Given the description of an element on the screen output the (x, y) to click on. 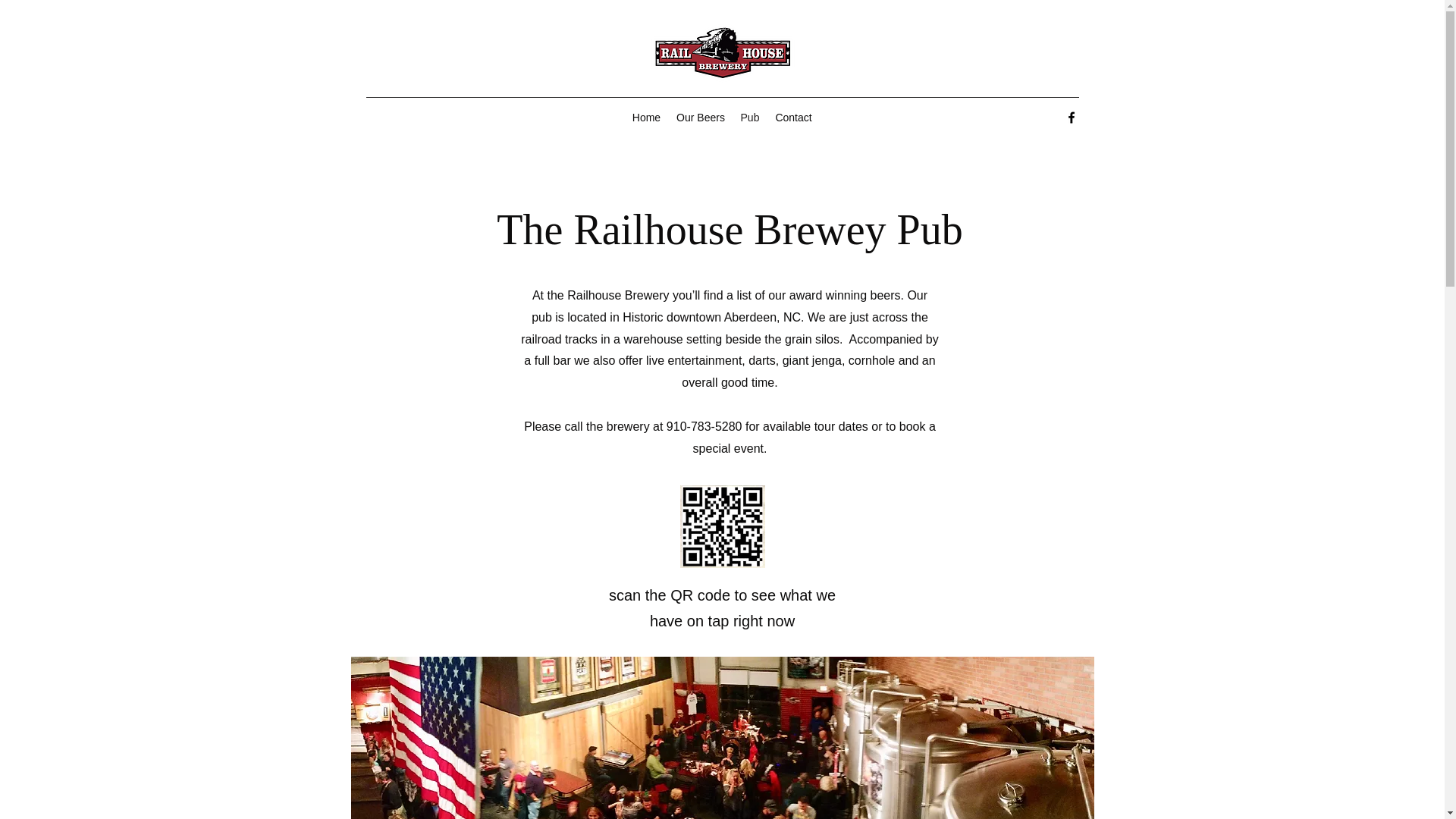
Home (646, 117)
Our Beers (700, 117)
Pub (749, 117)
Contact (794, 117)
